Given the description of an element on the screen output the (x, y) to click on. 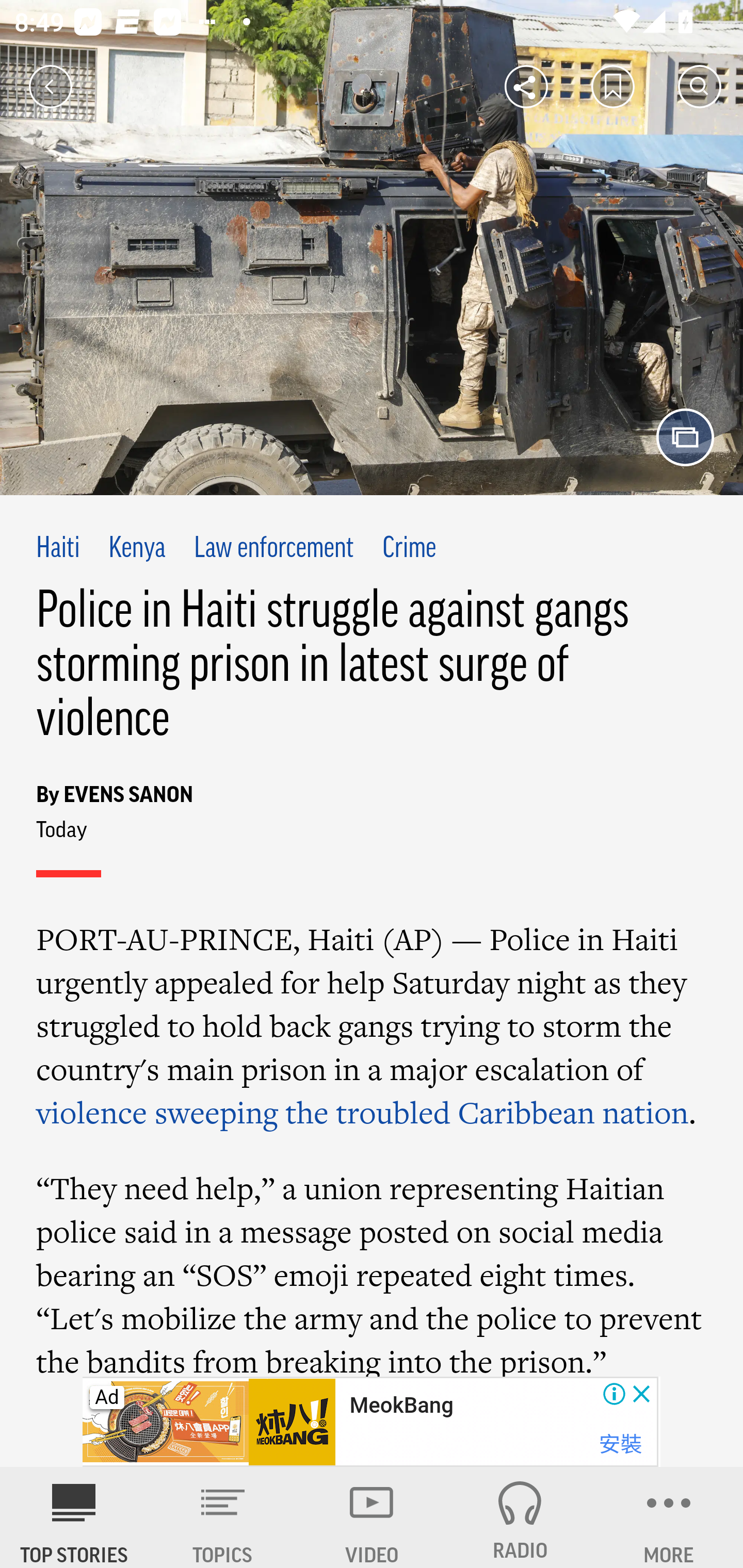
Haiti (58, 549)
Kenya (137, 549)
Law enforcement (274, 549)
Crime (408, 549)
violence sweeping the troubled Caribbean nation (362, 1112)
MeokBang (400, 1405)
安裝 (620, 1444)
AP News TOP STORIES (74, 1517)
TOPICS (222, 1517)
VIDEO (371, 1517)
RADIO (519, 1517)
MORE (668, 1517)
